Given the description of an element on the screen output the (x, y) to click on. 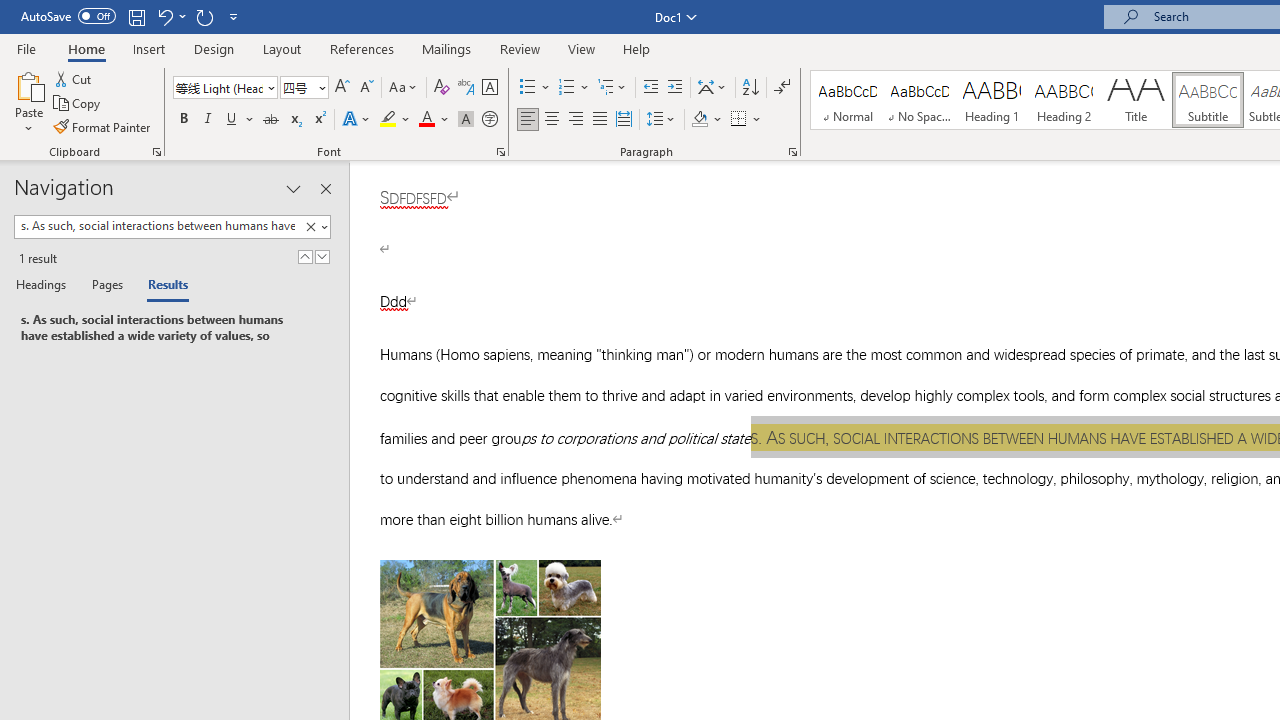
Shading RGB(0, 0, 0) (699, 119)
Customize Quick Access Toolbar (234, 15)
Cut (73, 78)
Borders (739, 119)
Font (218, 87)
Show/Hide Editing Marks (781, 87)
Home (86, 48)
Office Clipboard... (156, 151)
View (582, 48)
System (10, 11)
Change Case (404, 87)
Result 1 of 1 (166, 328)
Subtitle (1208, 100)
More Options (757, 119)
Decrease Indent (650, 87)
